Given the description of an element on the screen output the (x, y) to click on. 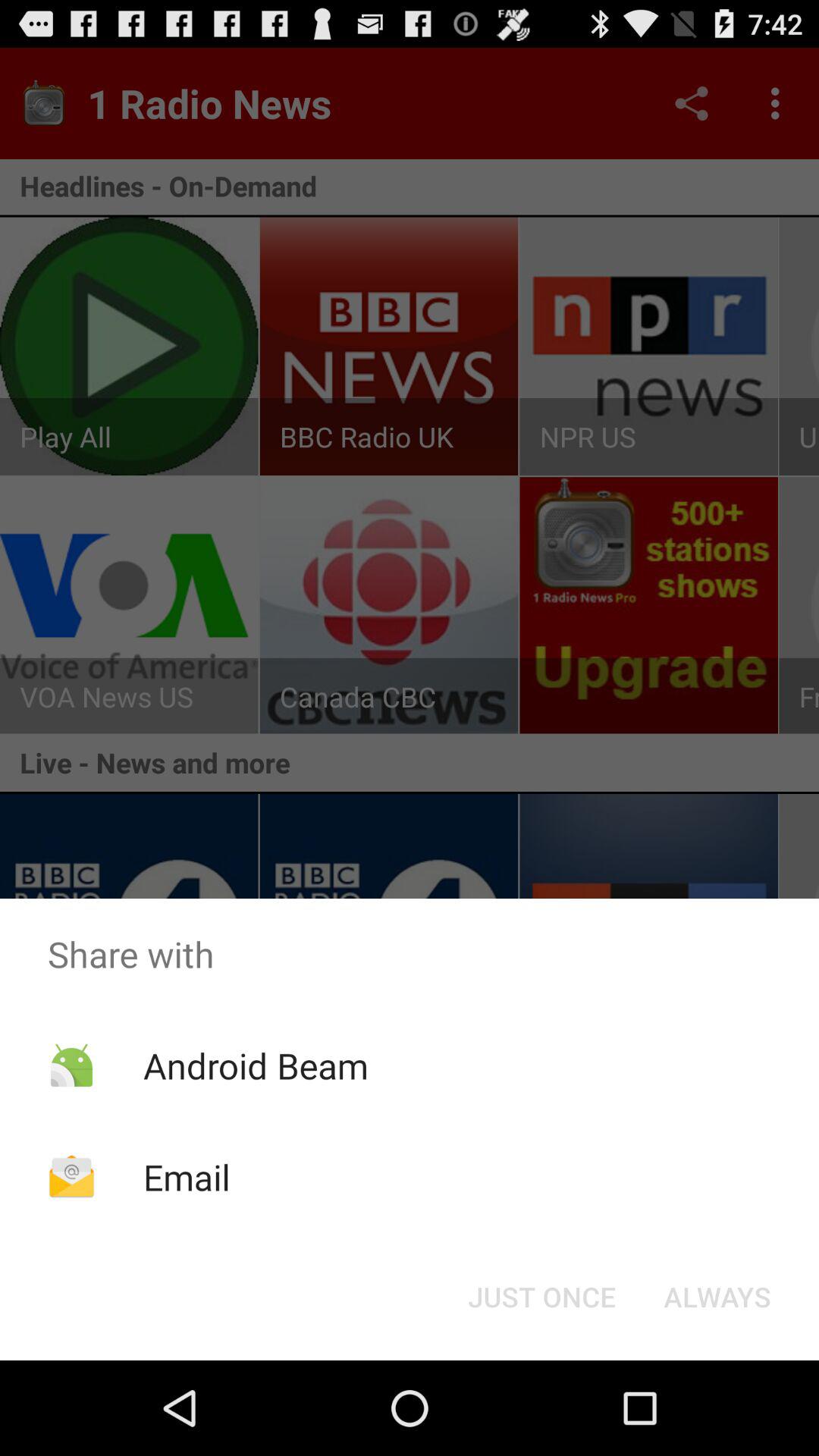
turn off icon below share with icon (255, 1065)
